Given the description of an element on the screen output the (x, y) to click on. 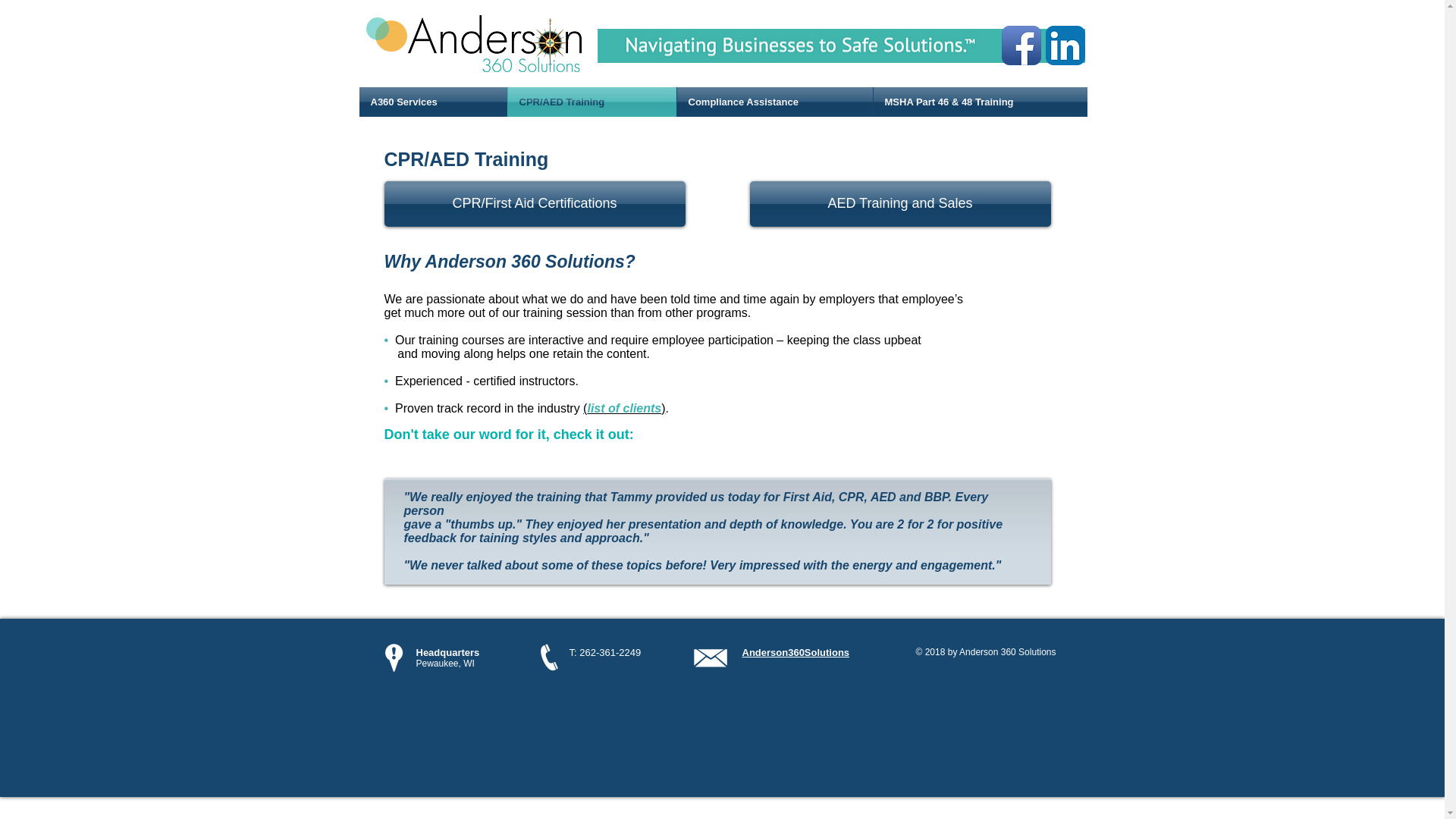
AED Training and Sales (899, 203)
Compliance Assistance (774, 101)
Anderson360Solutions (794, 652)
A360 Services (432, 101)
